Given the description of an element on the screen output the (x, y) to click on. 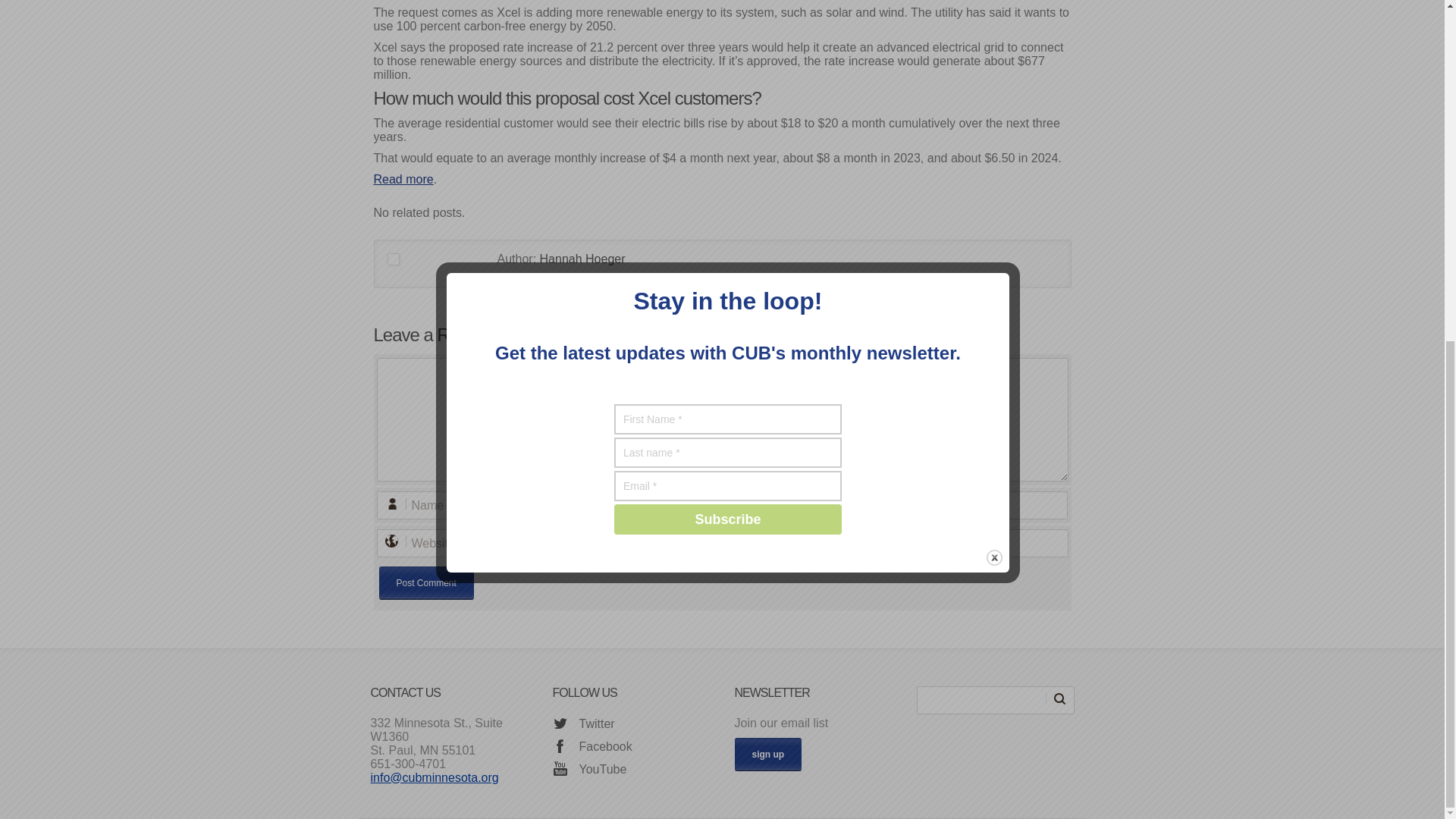
Post Comment (426, 582)
Twitter (582, 724)
Read more (402, 178)
651-300-4701 (407, 763)
Post Comment (426, 582)
Search (1059, 697)
